Given the description of an element on the screen output the (x, y) to click on. 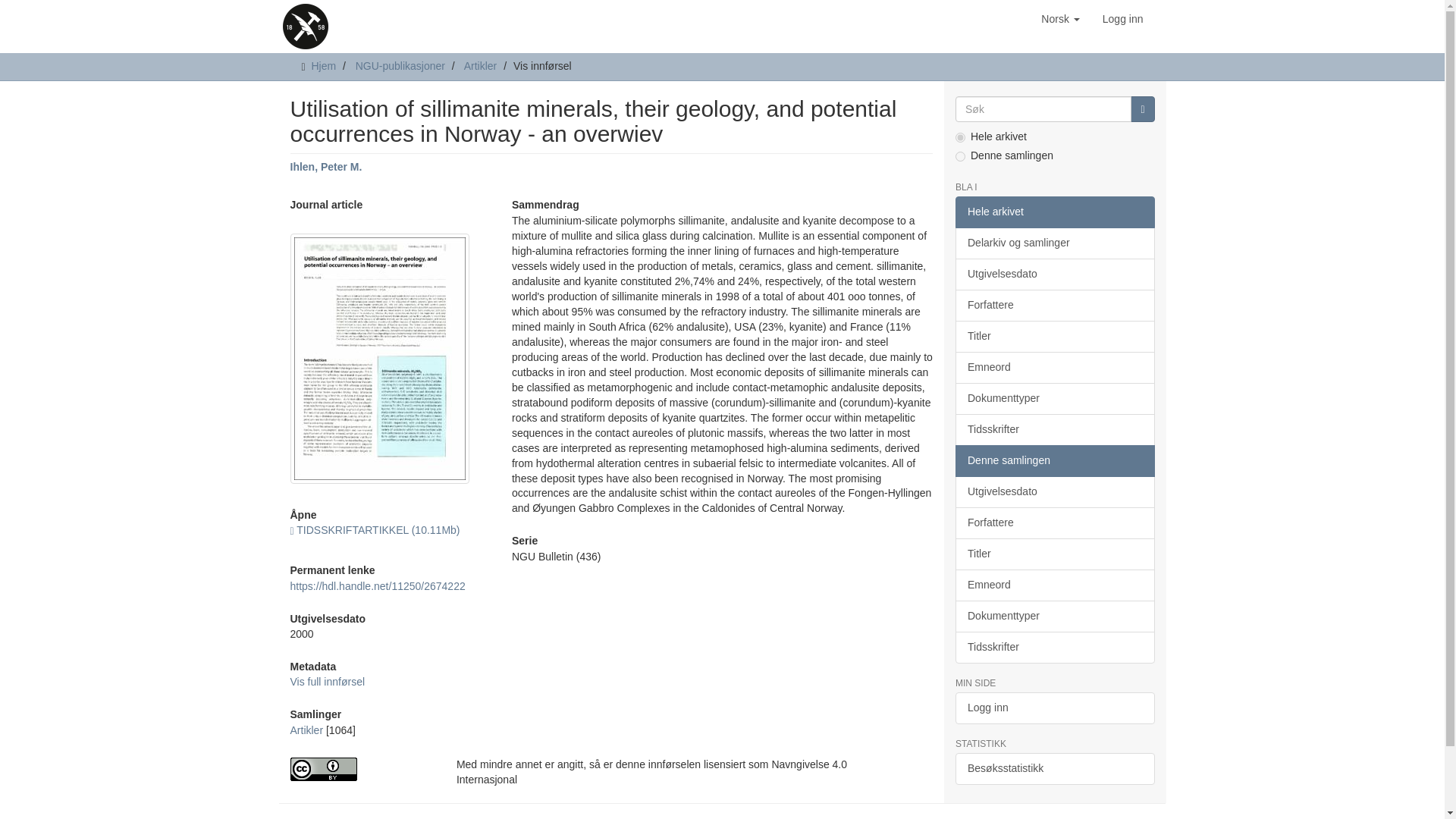
Artikler (480, 65)
Delarkiv og samlinger (1054, 243)
Hele arkivet (1054, 212)
Logg inn (1122, 18)
Ihlen, Peter M. (325, 166)
Emneord (1054, 368)
Utgivelsesdato (1054, 274)
NGU-publikasjoner (400, 65)
Titler (1054, 336)
Forfattere (1054, 305)
